Given the description of an element on the screen output the (x, y) to click on. 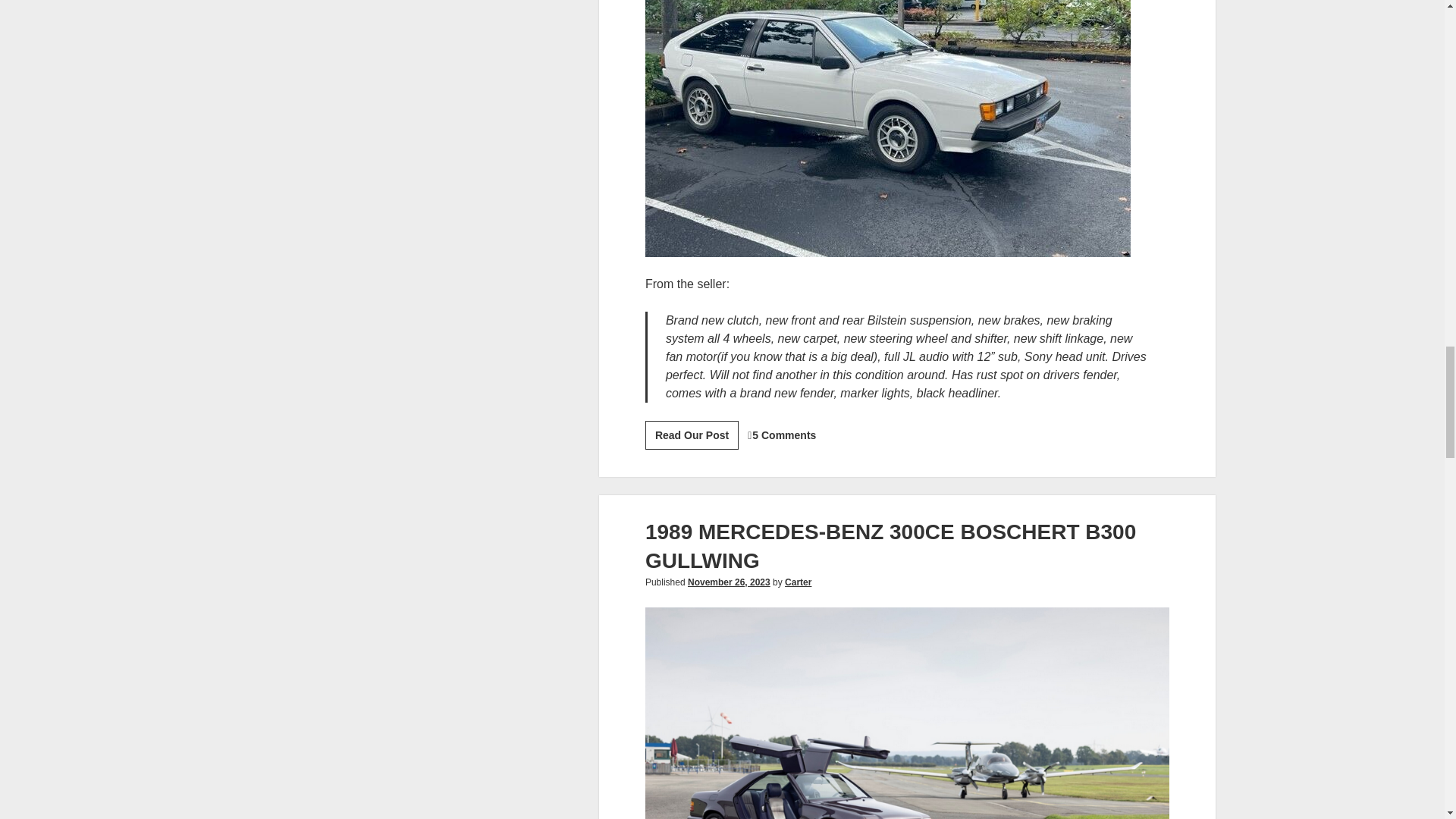
1989 MERCEDES-BENZ 300CE BOSCHERT B300 GULLWING (890, 546)
5 Comments (691, 434)
November 26, 2023 (783, 435)
Carter (728, 582)
